Given the description of an element on the screen output the (x, y) to click on. 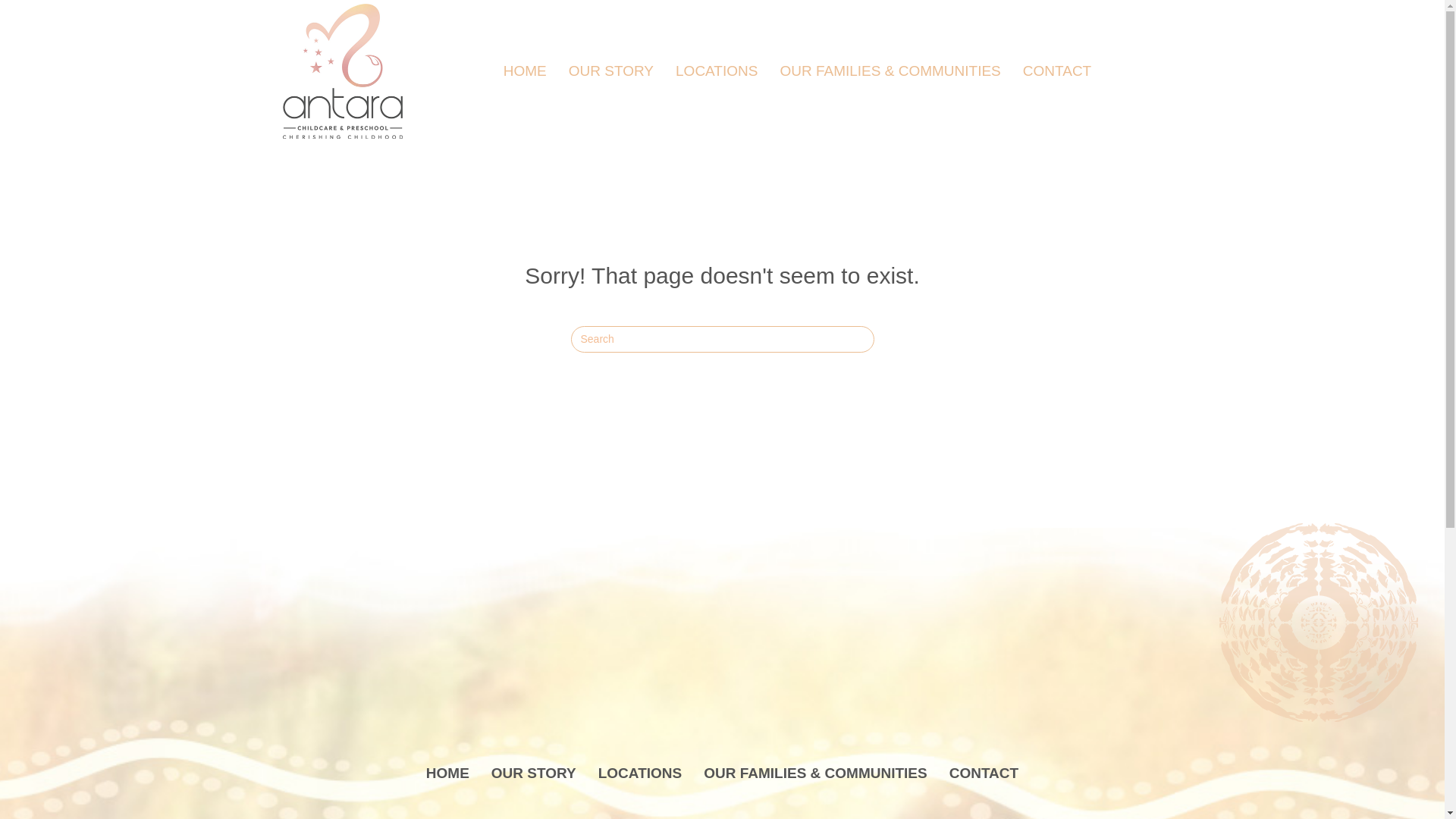
OUR STORY Element type: text (533, 772)
Antara Logox2 Element type: hover (341, 70)
Antara Bottom Circle Element type: hover (1319, 622)
CONTACT Element type: text (1056, 70)
LOCATIONS Element type: text (716, 70)
Type and press Enter to search. Element type: hover (721, 339)
HOME Element type: text (447, 772)
OUR STORY Element type: text (611, 70)
HOME Element type: text (524, 70)
CONTACT Element type: text (983, 772)
LOCATIONS Element type: text (639, 772)
OUR FAMILIES & COMMUNITIES Element type: text (815, 772)
OUR FAMILIES & COMMUNITIES Element type: text (889, 70)
